Given the description of an element on the screen output the (x, y) to click on. 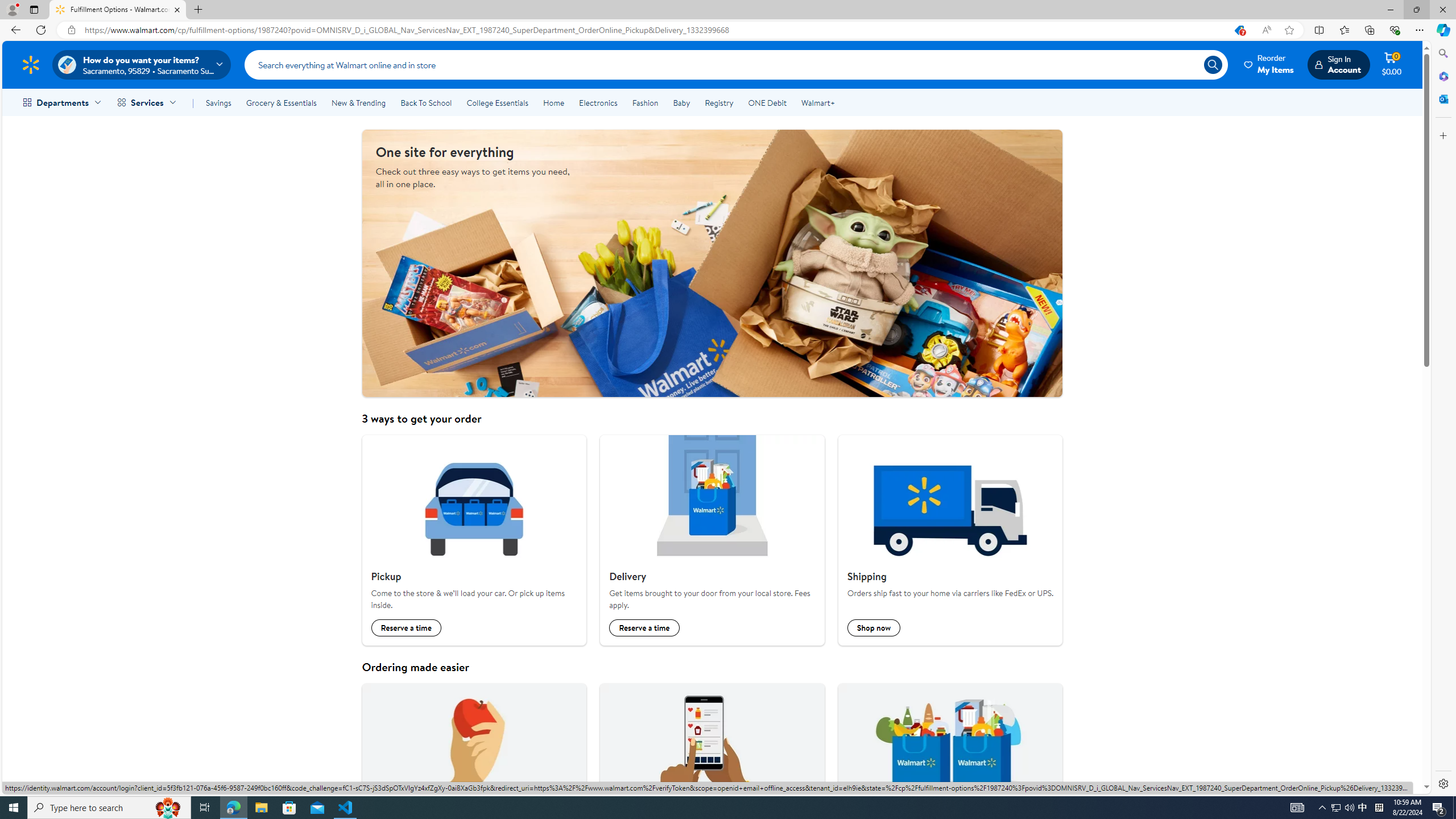
Fashion (644, 102)
